Given the description of an element on the screen output the (x, y) to click on. 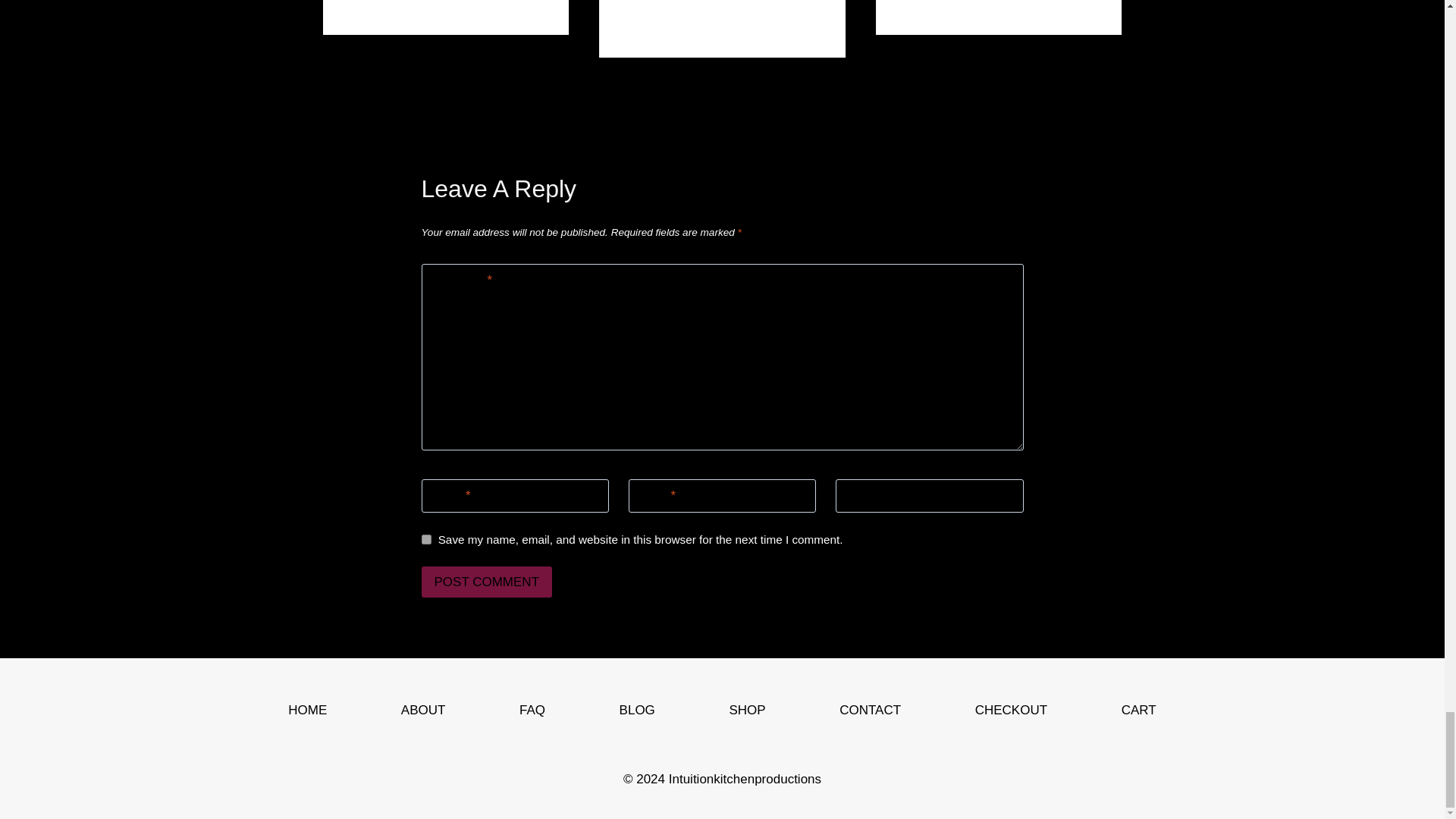
yes (426, 539)
Post Comment (487, 581)
